Given the description of an element on the screen output the (x, y) to click on. 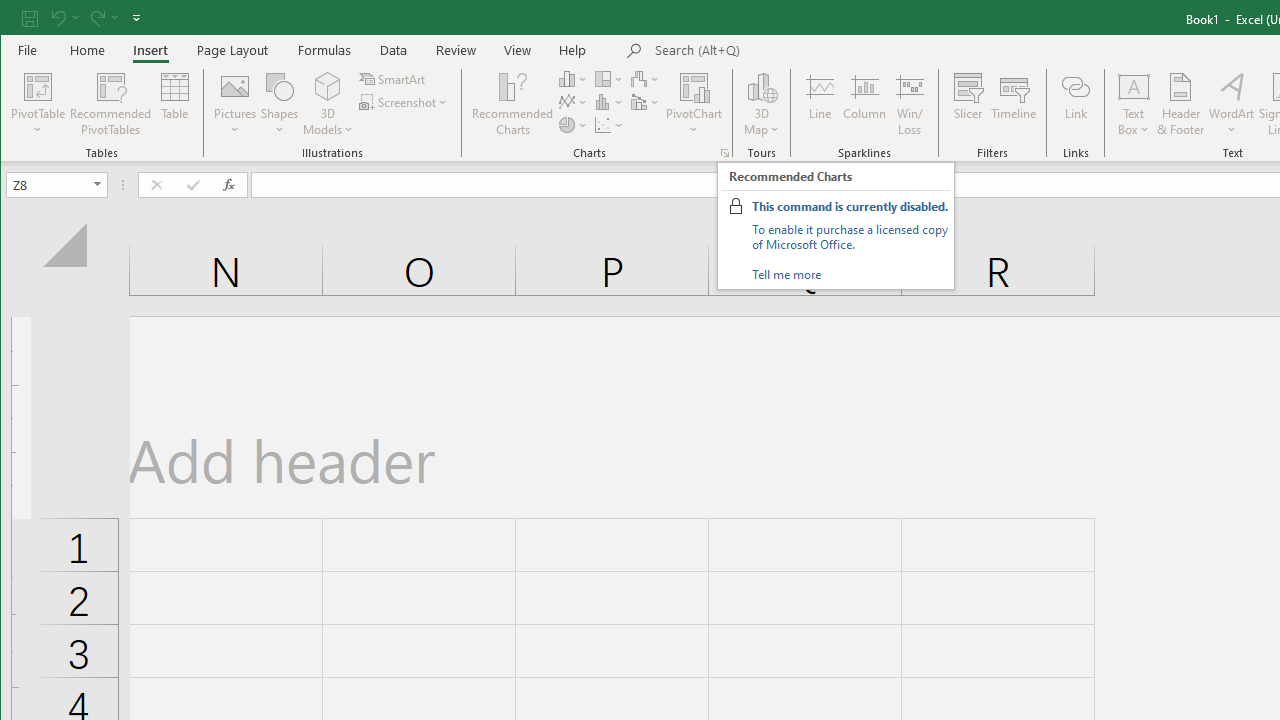
Timeline (1014, 104)
